Given the description of an element on the screen output the (x, y) to click on. 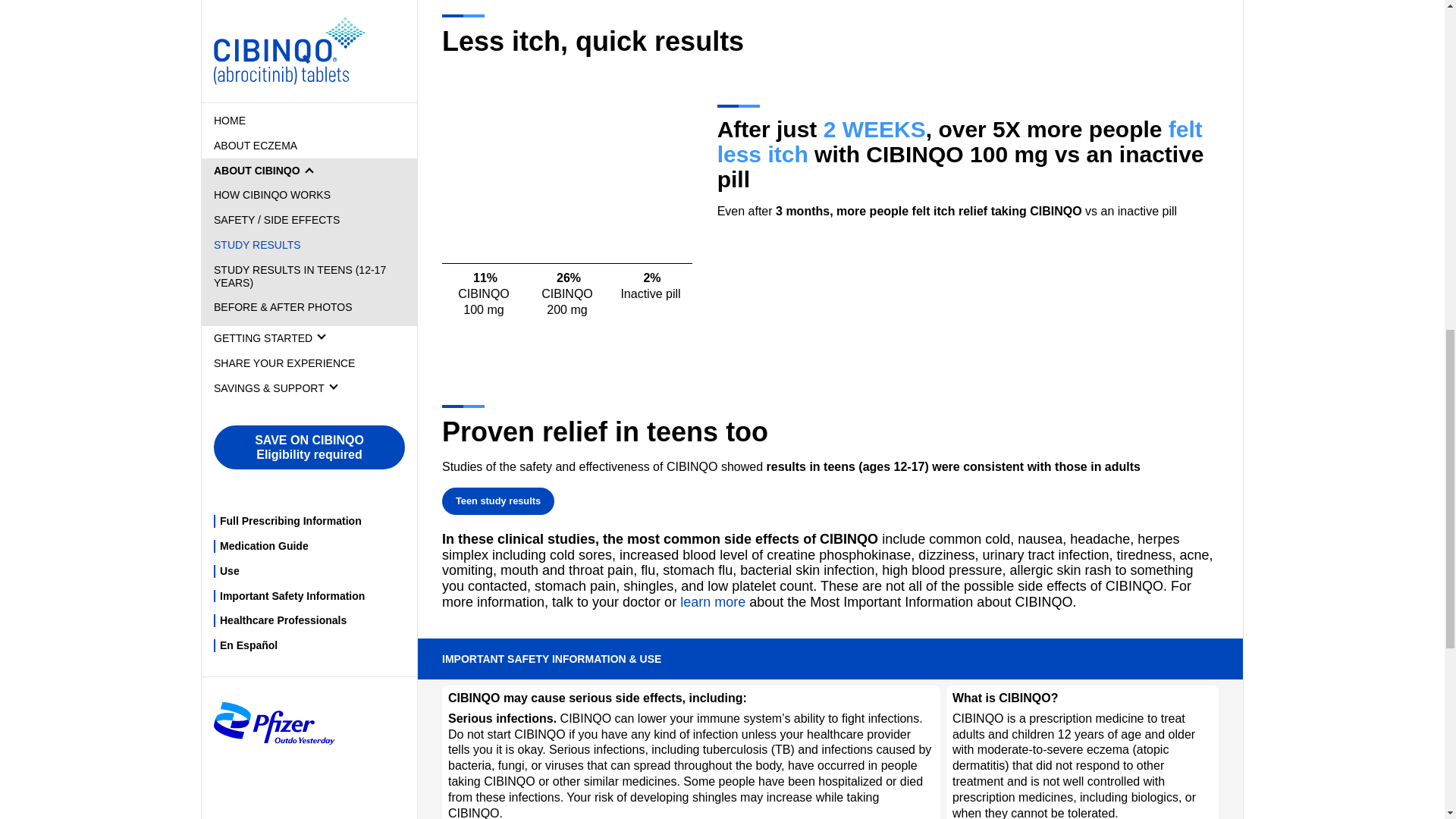
learn more (712, 601)
See photos (481, 815)
Teen study results (498, 501)
See photos (481, 815)
Teen study results (498, 501)
learn more (712, 601)
